Given the description of an element on the screen output the (x, y) to click on. 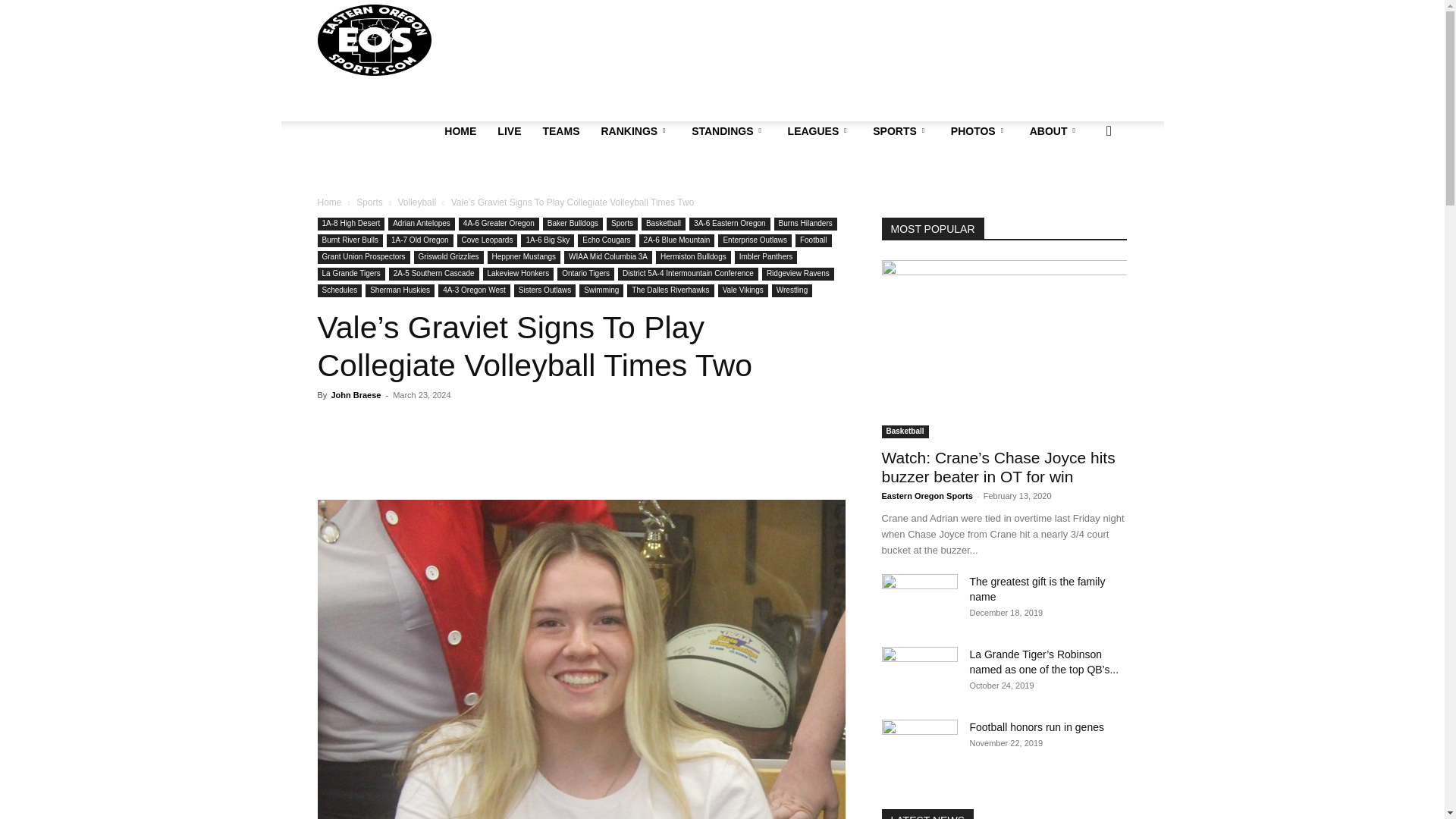
View all posts in Sports (369, 202)
View all posts in Volleyball (416, 202)
Eastern Oregon Sports (373, 40)
